Given the description of an element on the screen output the (x, y) to click on. 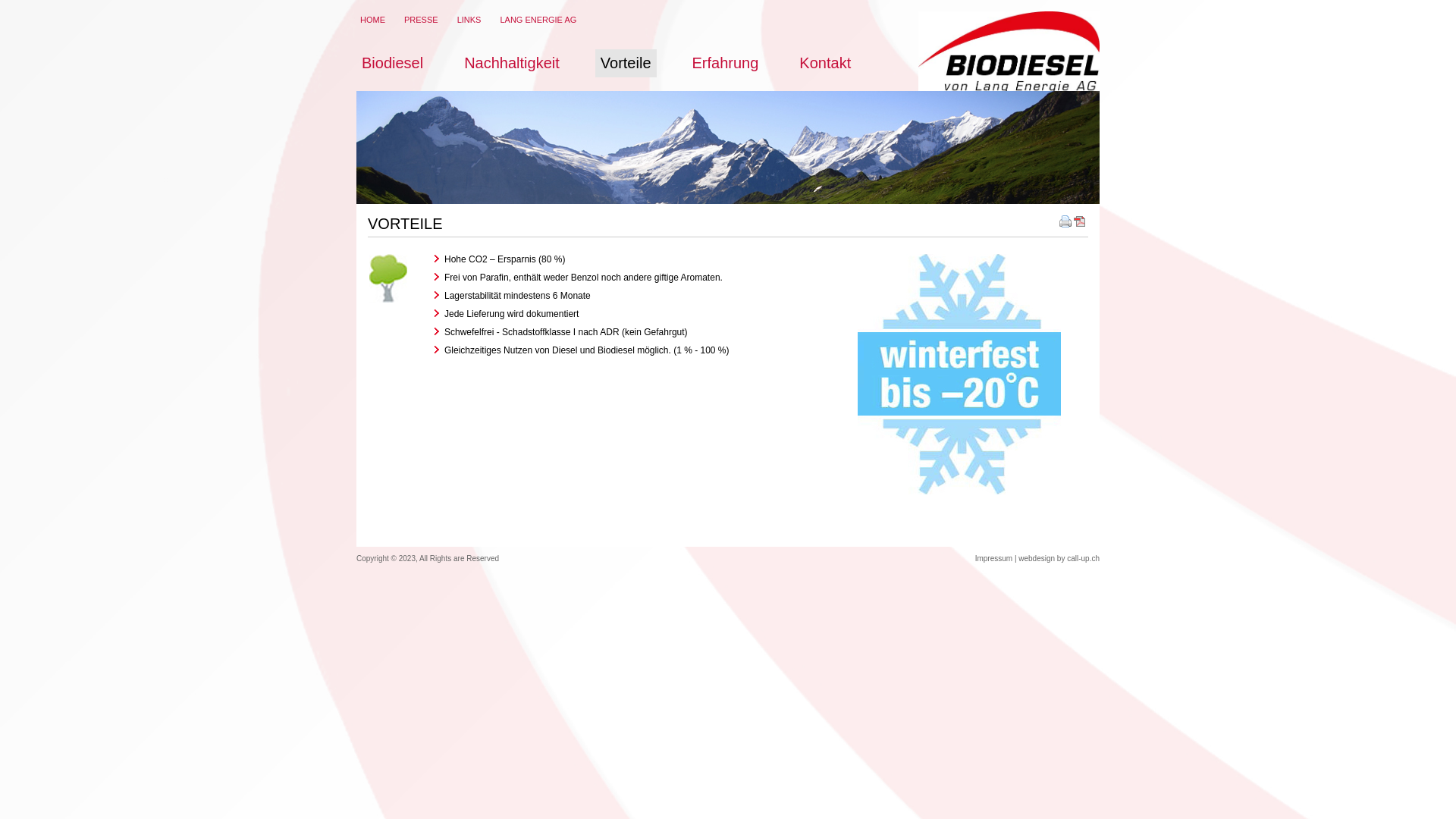
Kontakt Element type: text (824, 63)
Diese Seite drucken Element type: hover (1065, 224)
HOME Element type: text (372, 19)
Impressum Element type: text (993, 558)
PRESSE Element type: text (421, 19)
Biodiesel Element type: text (392, 63)
Artikel als PDF drucken Element type: hover (1079, 224)
Erfahrung Element type: text (725, 63)
Biodiesel Vorteile Langenergie Element type: hover (388, 278)
Nachhaltigkeit Element type: text (511, 63)
LINKS Element type: text (469, 19)
webdesign by call-up.ch Element type: text (1058, 558)
LANG ENERGIE AG Element type: text (537, 19)
Biodiesel Langenergie Element type: hover (1008, 52)
